Given the description of an element on the screen output the (x, y) to click on. 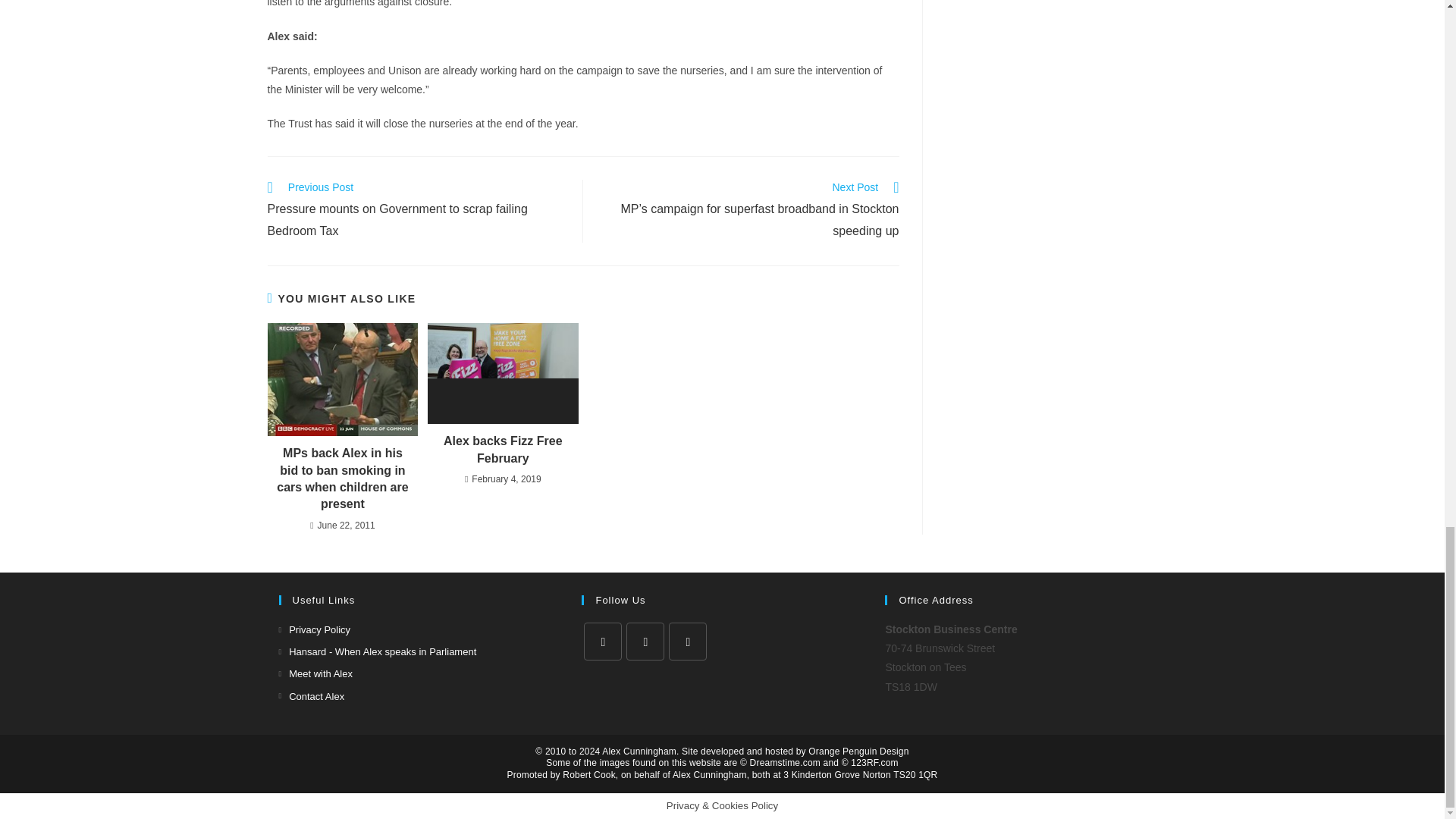
Privacy Policy (314, 629)
Orange Penguin Design Limited (858, 751)
Meet with Alex (315, 673)
Hansard - When Alex speaks in Parliament (378, 651)
Alex backs Fizz Free February (502, 449)
Contact Alex (312, 696)
